Given the description of an element on the screen output the (x, y) to click on. 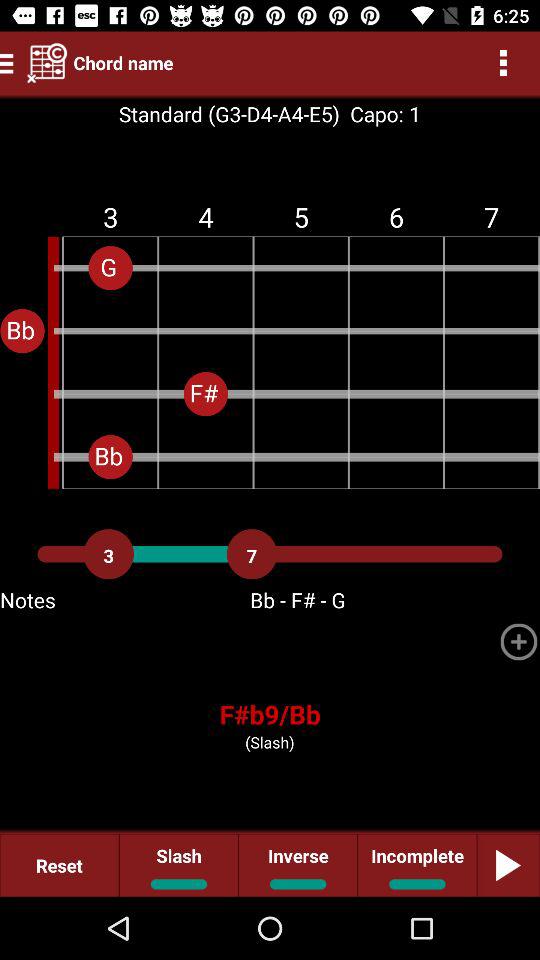
choose the item below bb - f# - g (518, 642)
